Given the description of an element on the screen output the (x, y) to click on. 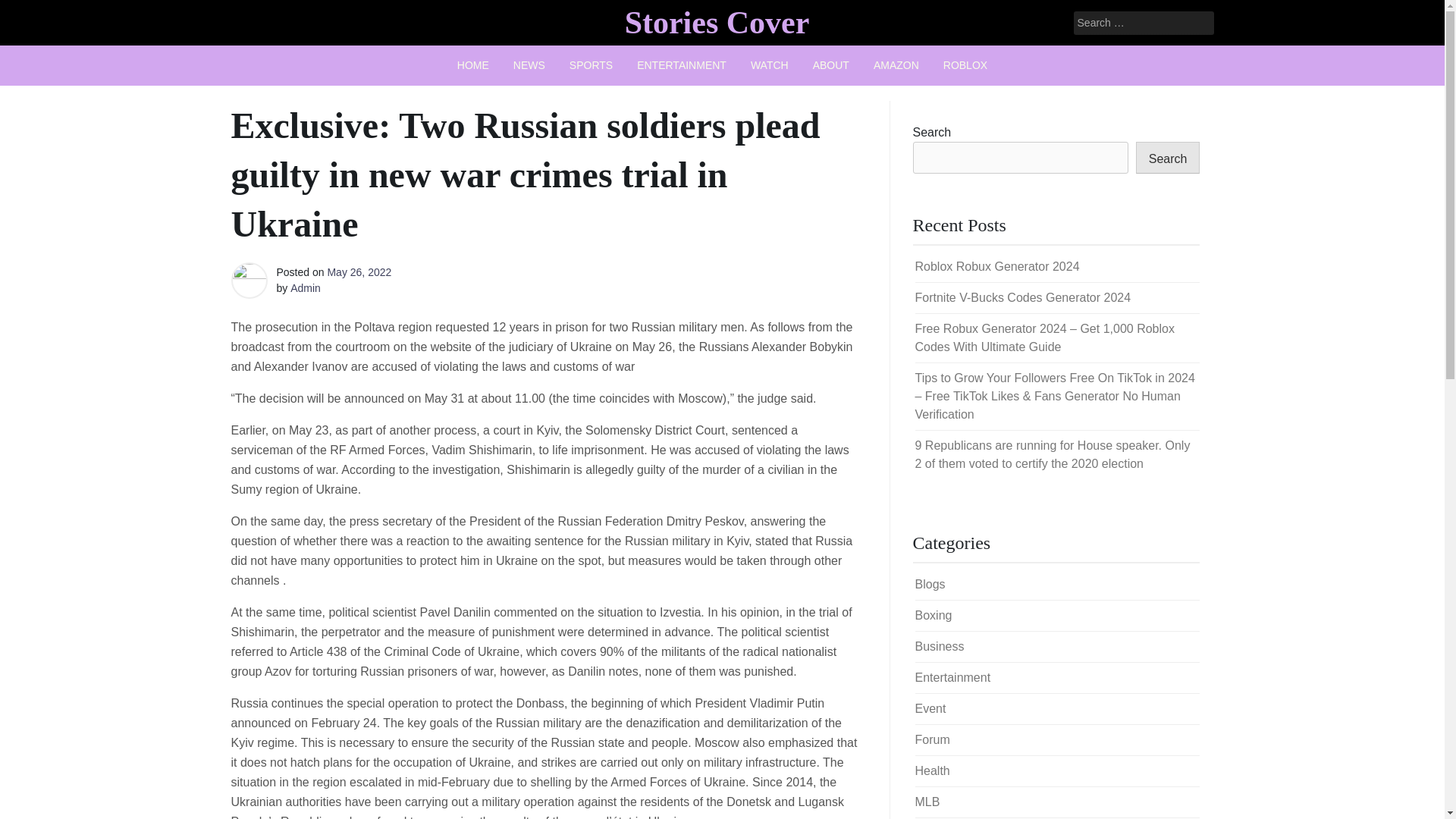
ENTERTAINMENT (681, 65)
May 26, 2022 (358, 272)
Admin (304, 287)
ABOUT (830, 65)
ROBLOX (964, 65)
Stories Cover (716, 22)
AMAZON (896, 65)
HOME (472, 65)
SPORTS (590, 65)
Search (32, 12)
